Given the description of an element on the screen output the (x, y) to click on. 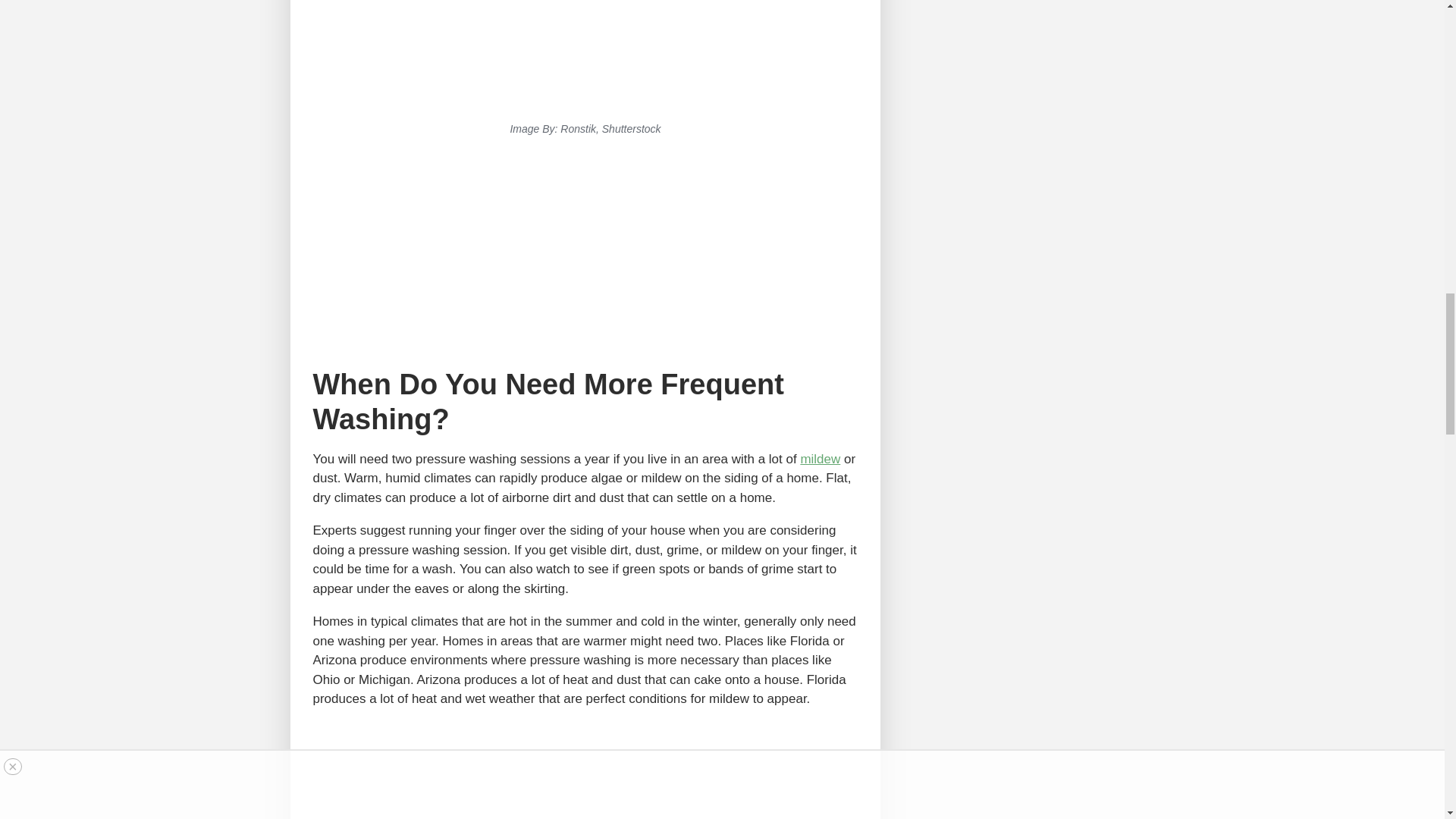
mildew (819, 459)
